Given the description of an element on the screen output the (x, y) to click on. 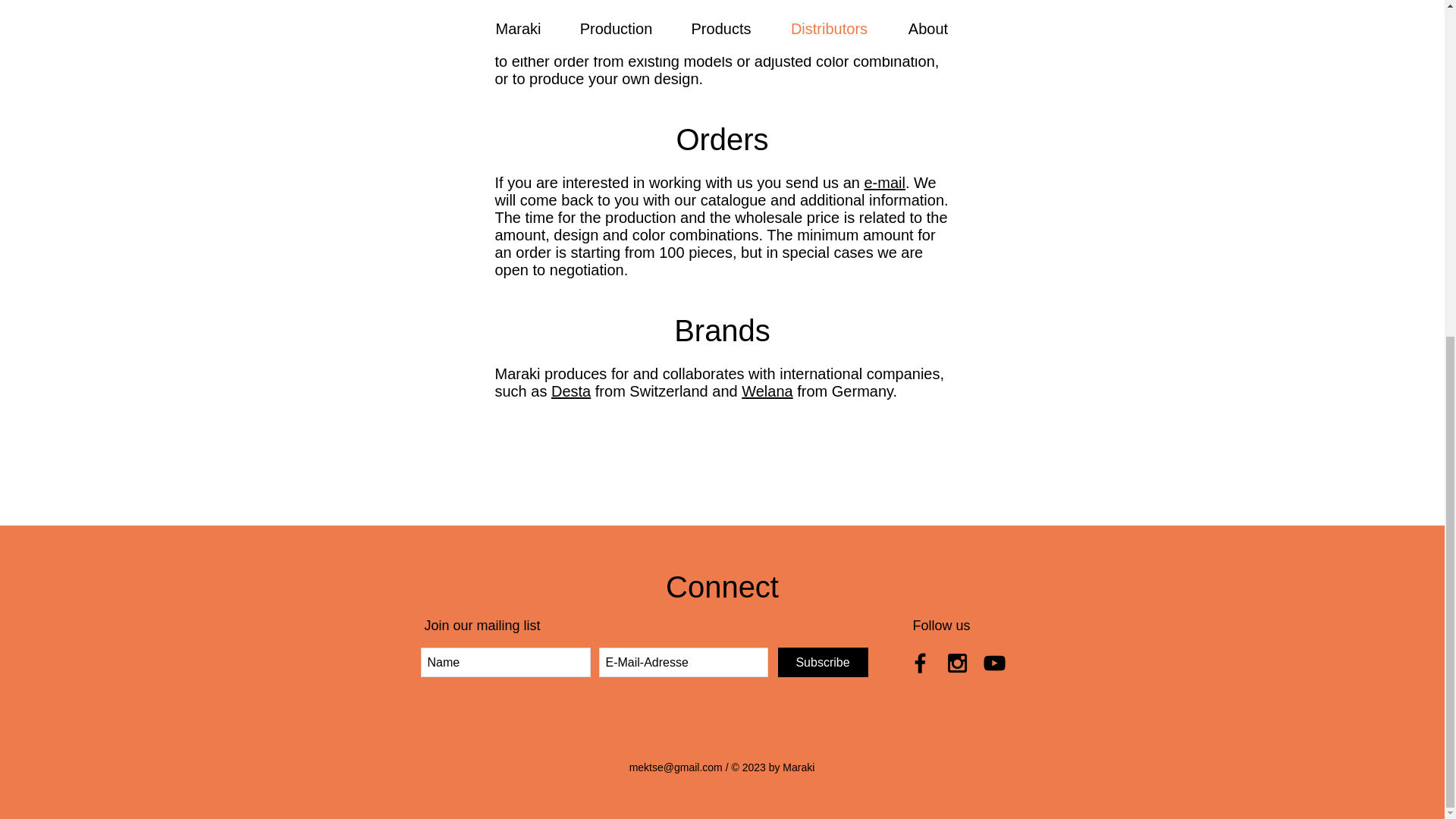
Desta (571, 391)
Subscribe (822, 662)
Welana (766, 391)
gabis (623, 26)
e-mail (883, 182)
